Given the description of an element on the screen output the (x, y) to click on. 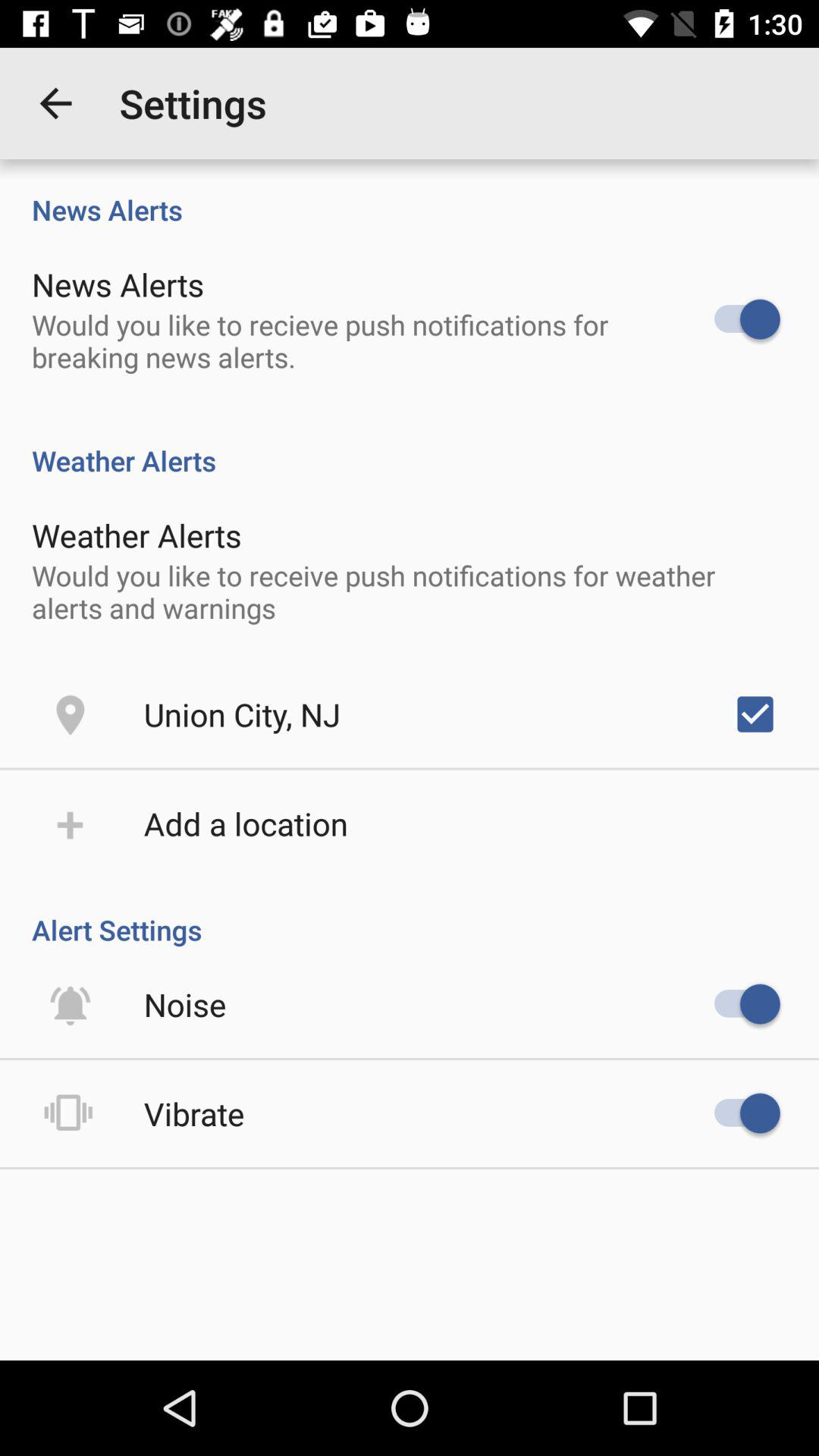
open the item above news alerts (55, 103)
